Given the description of an element on the screen output the (x, y) to click on. 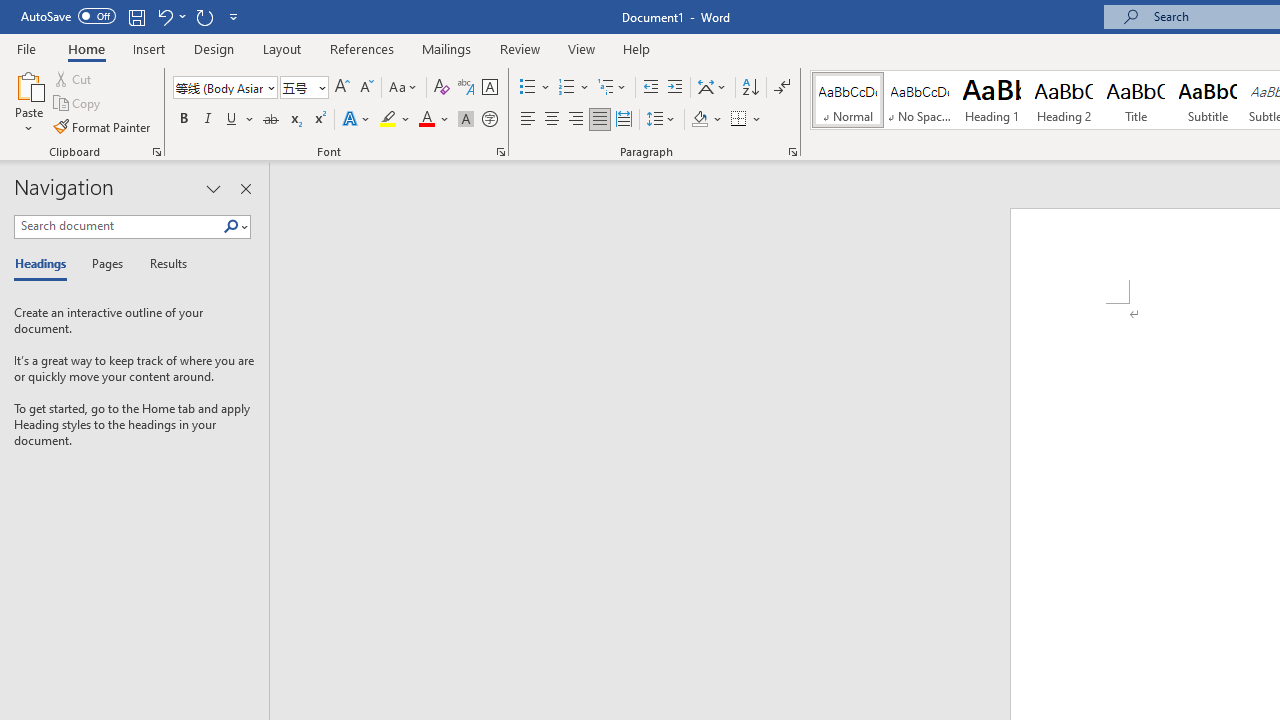
Undo Apply Quick Style (170, 15)
